Given the description of an element on the screen output the (x, y) to click on. 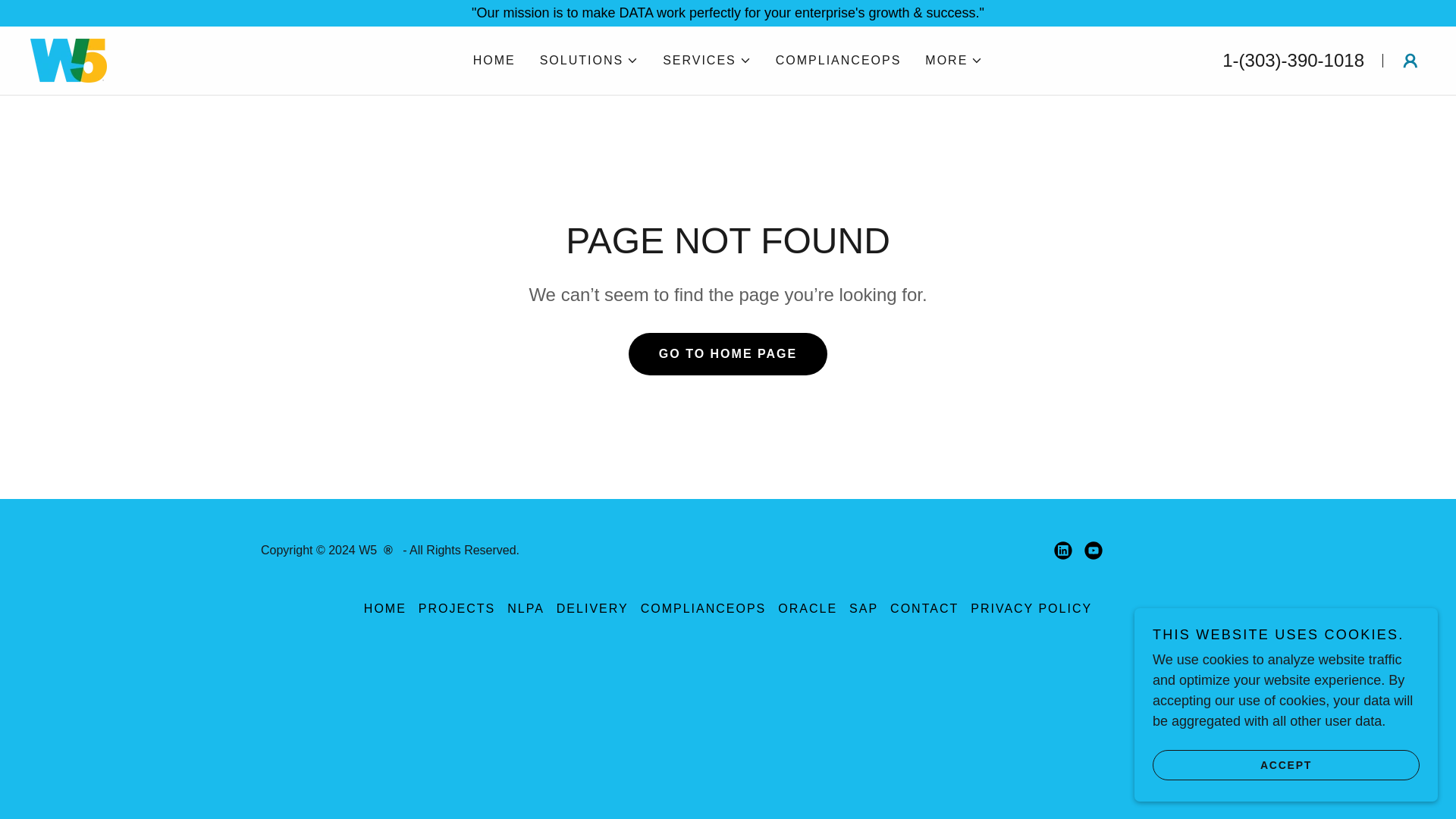
MORE (953, 60)
W5 (68, 59)
SERVICES (706, 60)
HOME (493, 60)
SOLUTIONS (589, 60)
COMPLIANCEOPS (838, 60)
